Given the description of an element on the screen output the (x, y) to click on. 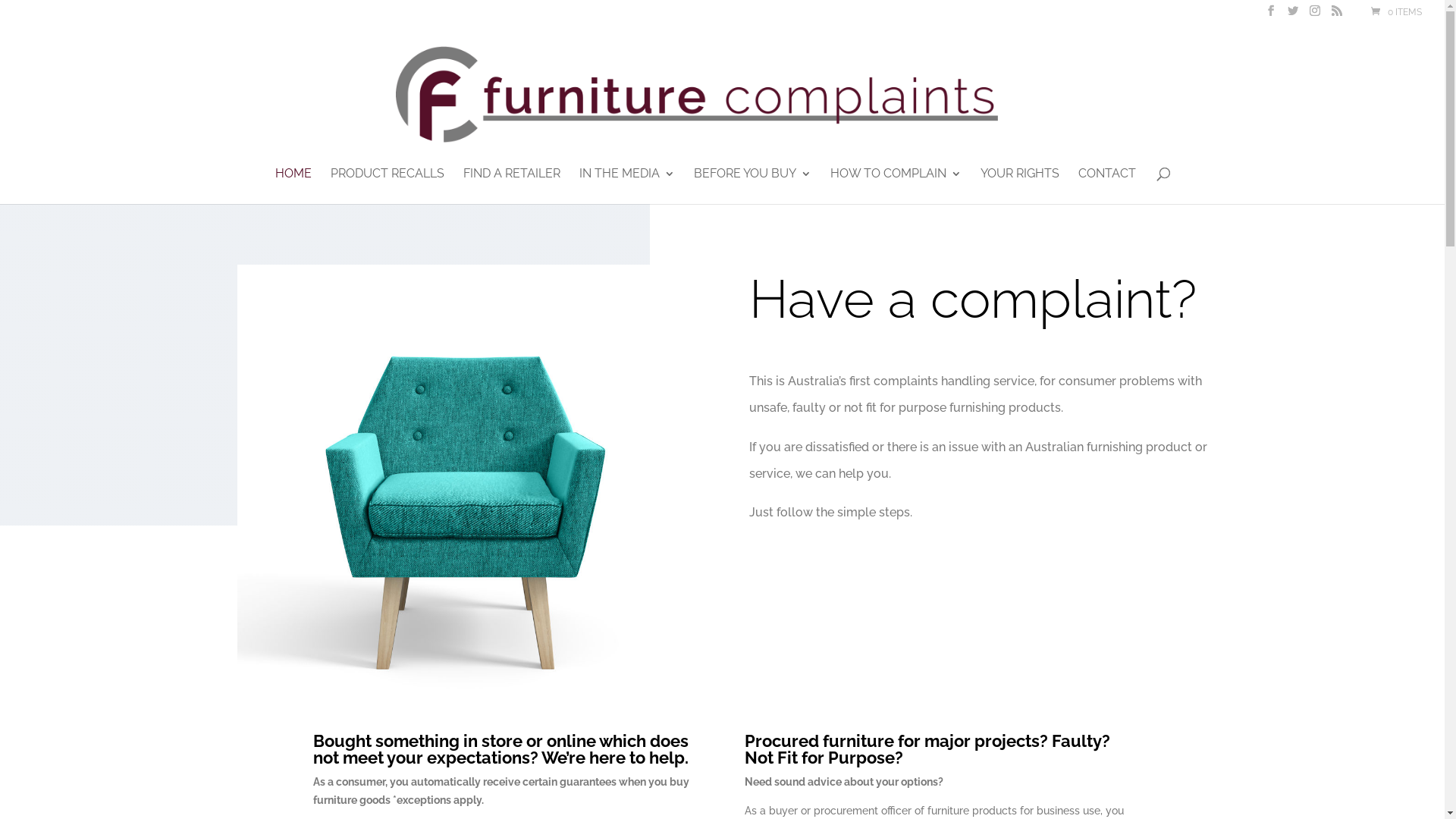
PRODUCT RECALLS Element type: text (387, 185)
IN THE MEDIA Element type: text (626, 185)
CONTACT Element type: text (1106, 185)
BEFORE YOU BUY Element type: text (751, 185)
Furniture Complaints Australia Element type: hover (465, 493)
YOUR RIGHTS Element type: text (1018, 185)
HOW TO COMPLAIN Element type: text (894, 185)
HOME Element type: text (292, 185)
0 ITEMS Element type: text (1394, 11)
FIND A RETAILER Element type: text (510, 185)
